Given the description of an element on the screen output the (x, y) to click on. 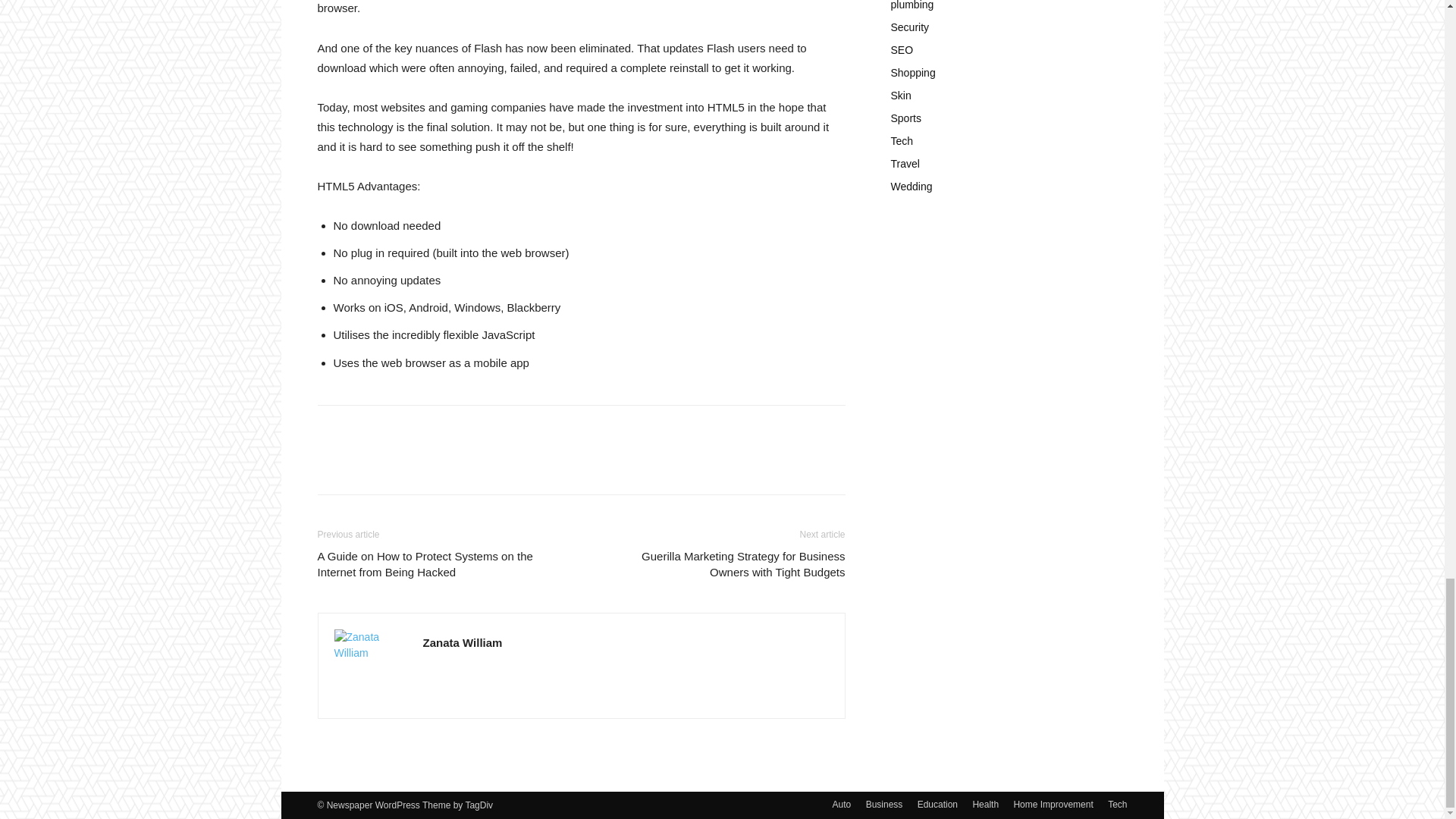
bottomFacebookLike (430, 429)
